Given the description of an element on the screen output the (x, y) to click on. 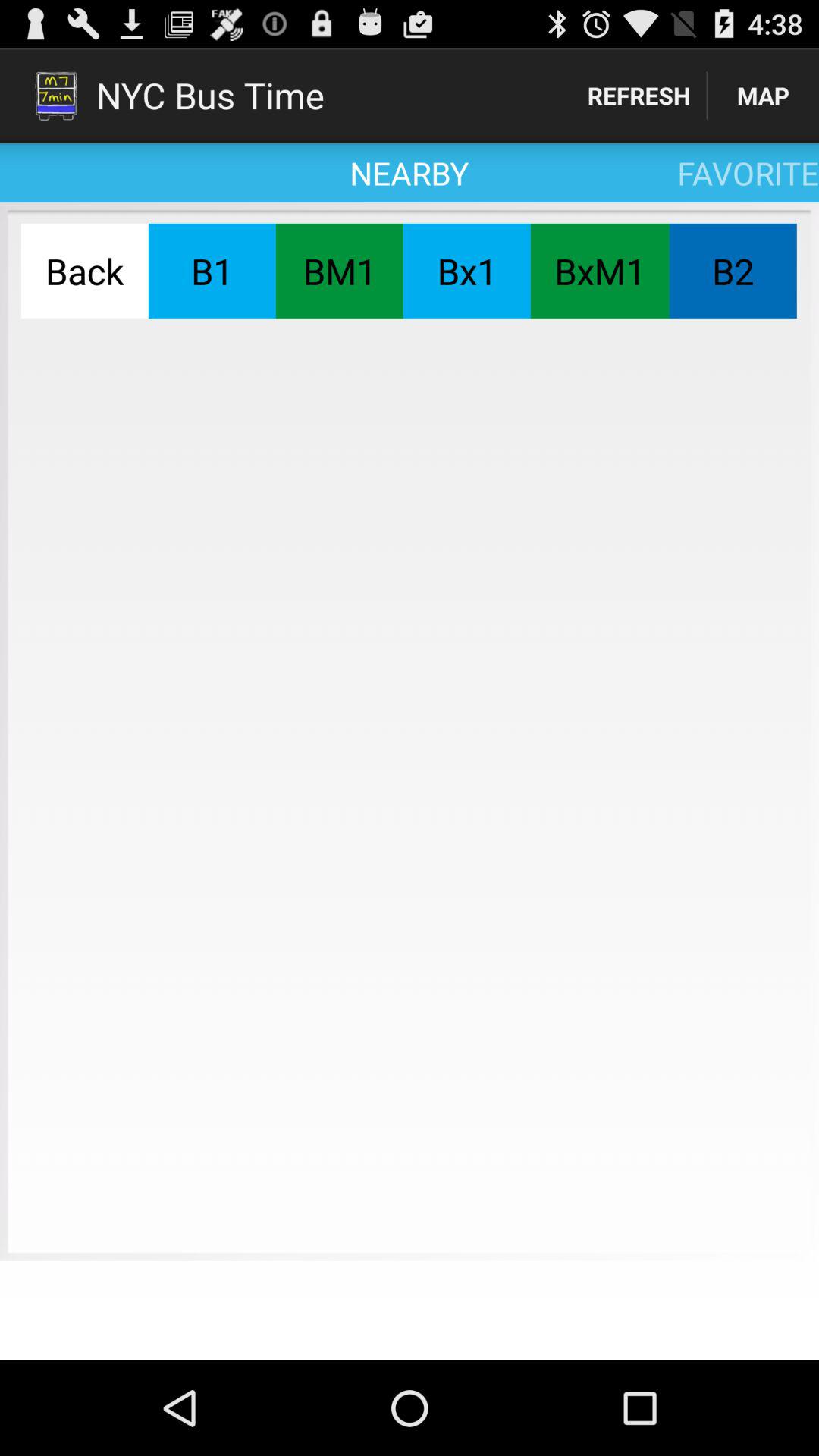
tap the icon to the right of back item (211, 271)
